Given the description of an element on the screen output the (x, y) to click on. 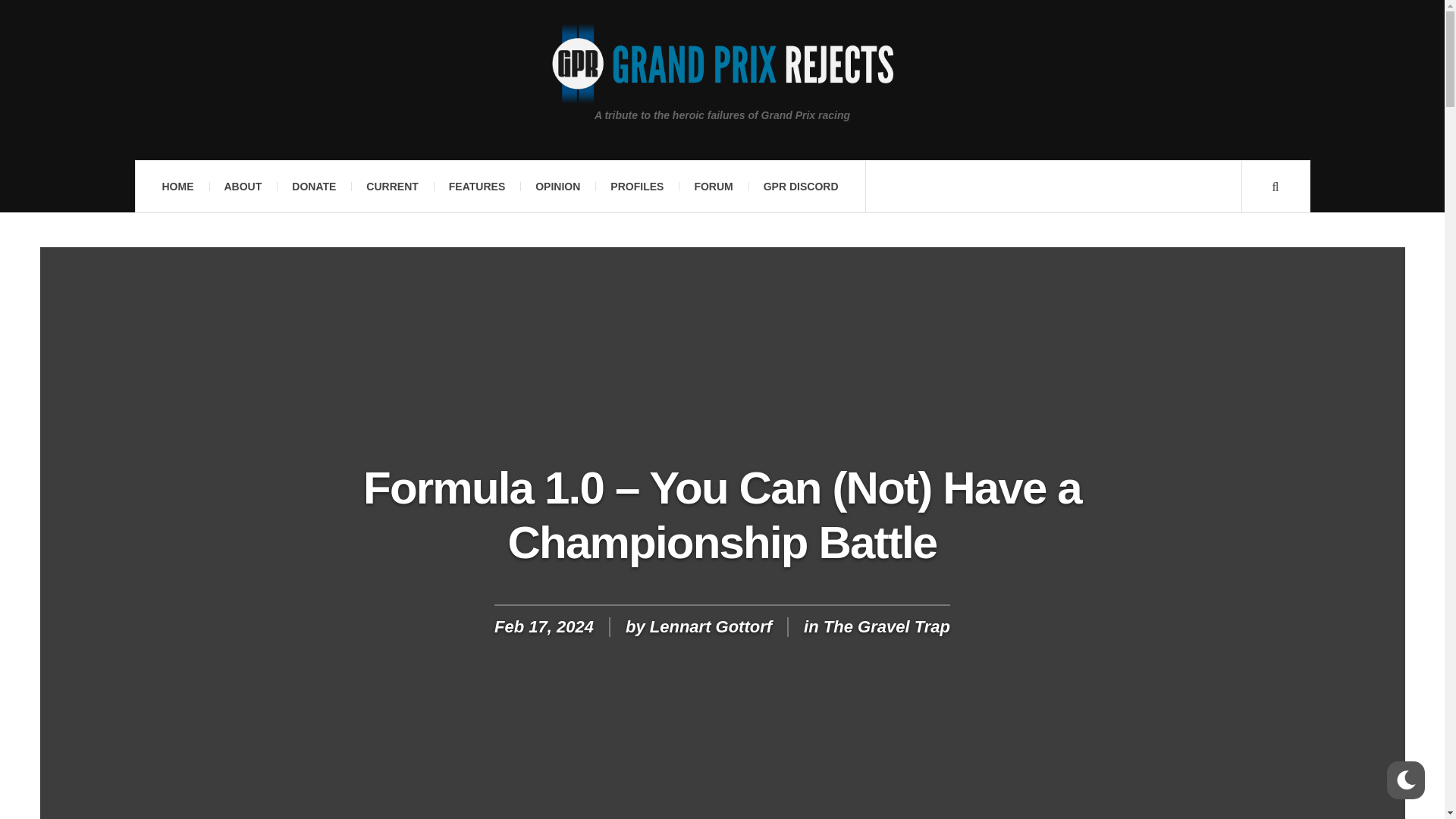
Grand Prix Rejects (722, 63)
GPR DISCORD (800, 186)
HOME (178, 186)
ABOUT (243, 186)
CURRENT (391, 186)
DONATE (313, 186)
FORUM (713, 186)
View all posts in The Gravel Trap (887, 626)
OPINION (557, 186)
FEATURES (476, 186)
